Given the description of an element on the screen output the (x, y) to click on. 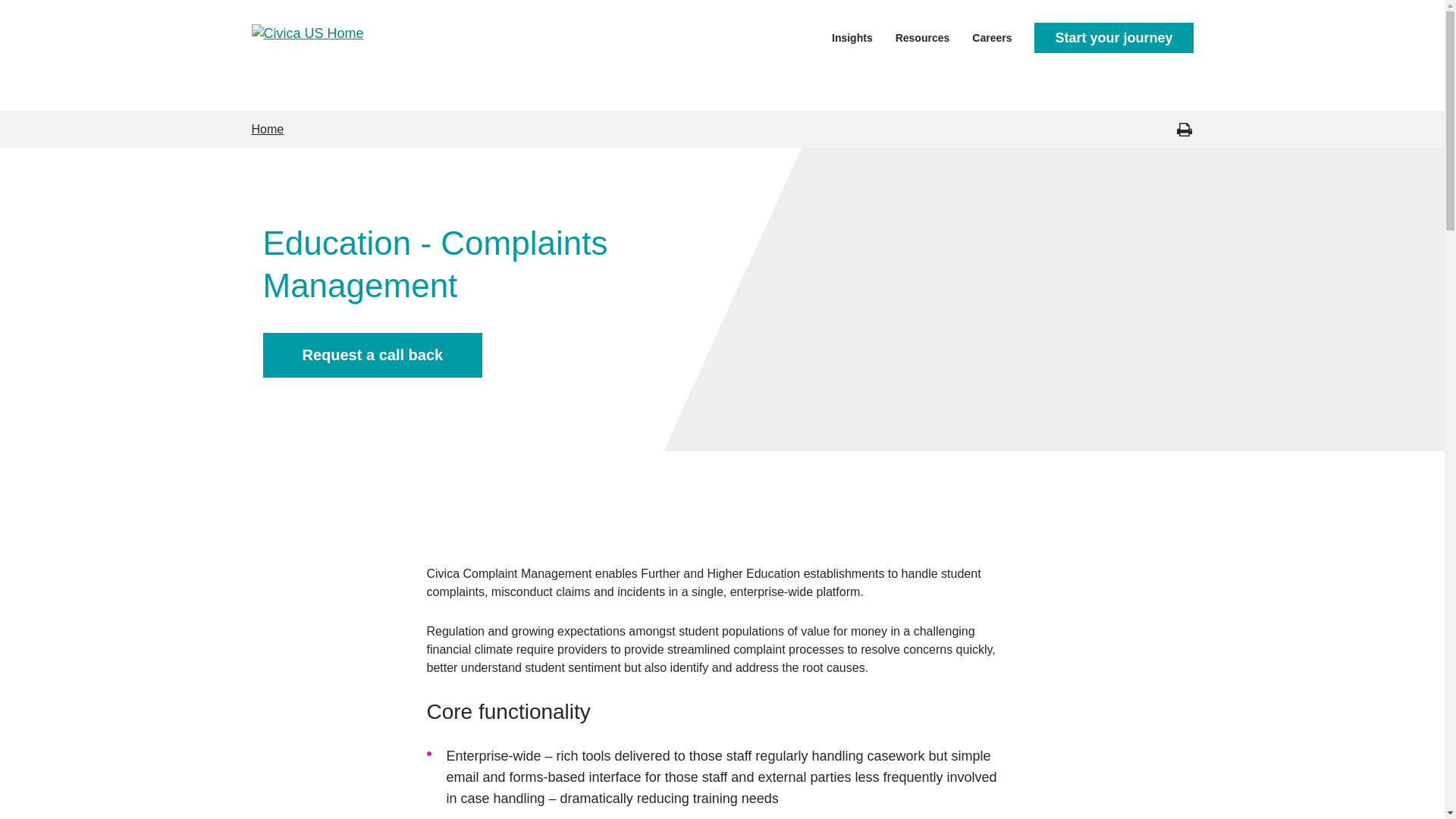
Request a call back (371, 354)
Insights (851, 37)
Resources (922, 37)
Start your journey (1112, 37)
Careers (991, 37)
Home (267, 128)
Print (1183, 128)
